Given the description of an element on the screen output the (x, y) to click on. 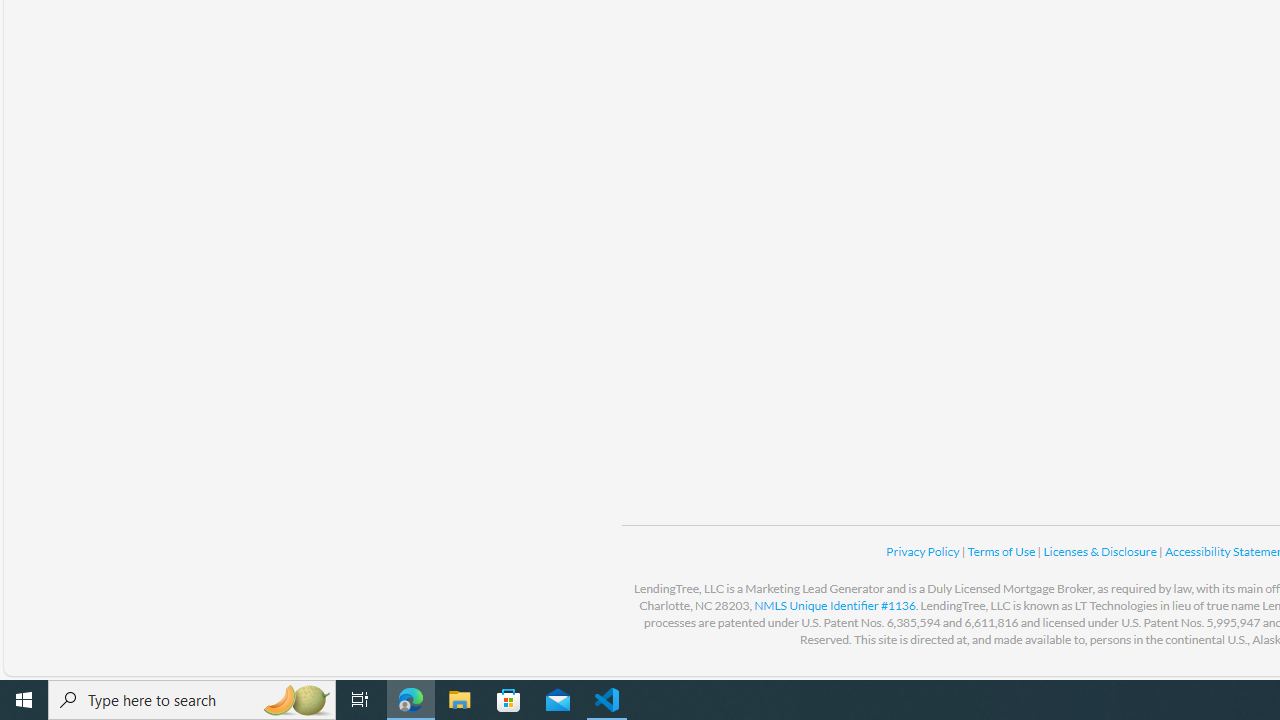
Licenses & Disclosure  (1100, 551)
Terms of Use  (1002, 551)
Privacy Policy  (923, 551)
NMLS Unique Identifier #1136 (834, 605)
